Given the description of an element on the screen output the (x, y) to click on. 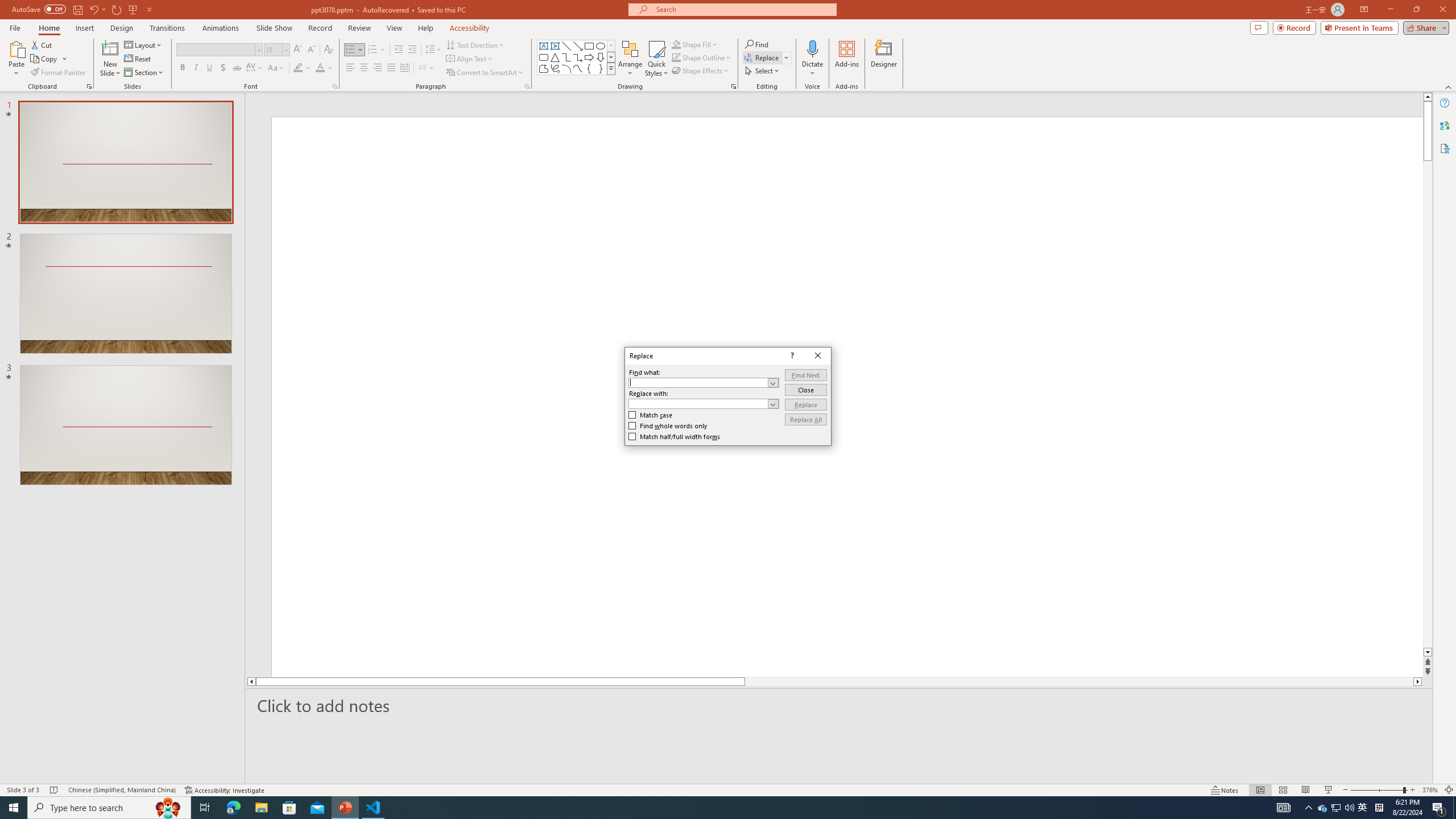
Find what (697, 382)
Match case (650, 414)
